Given the description of an element on the screen output the (x, y) to click on. 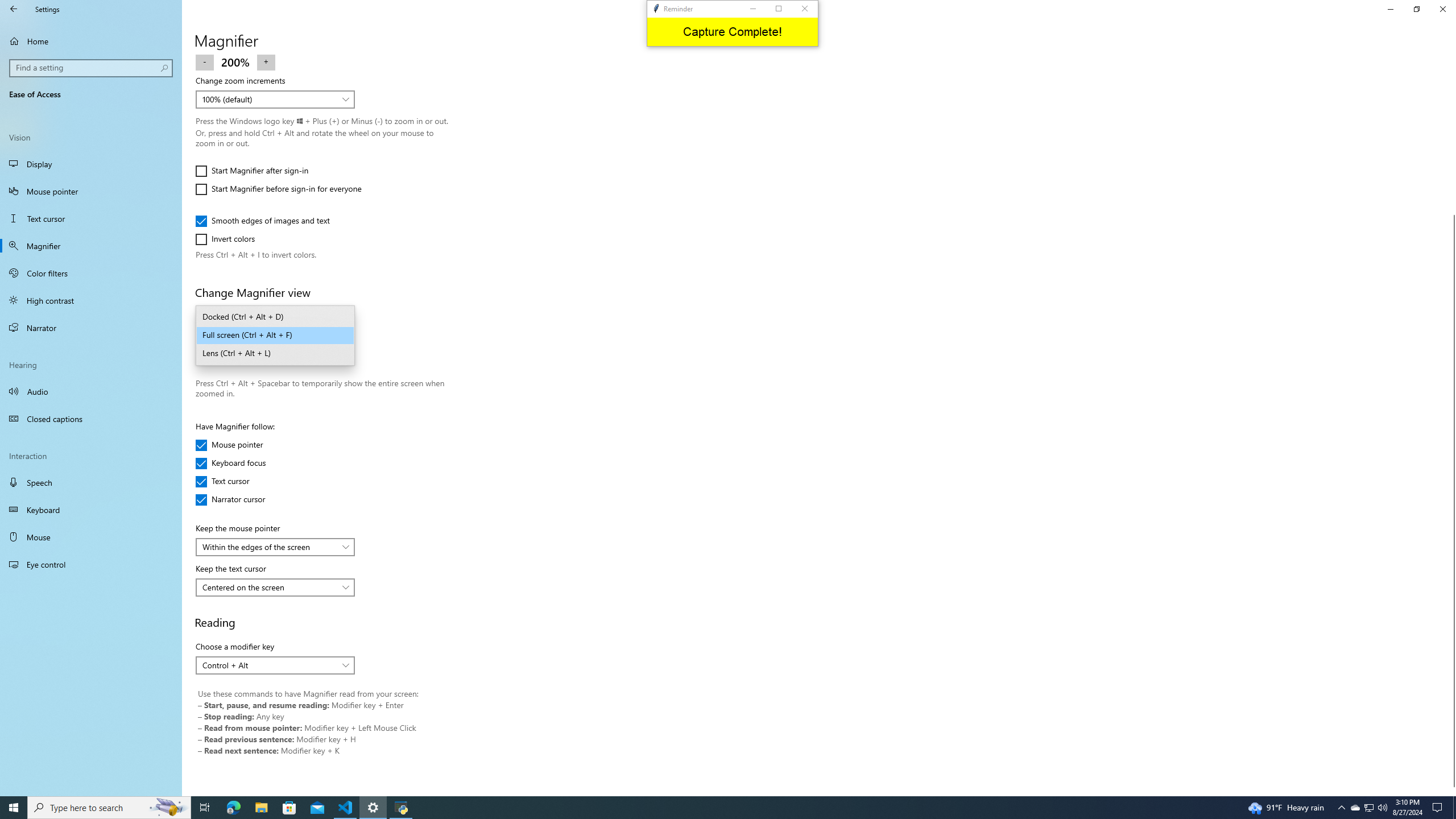
Choose a view (275, 335)
Keyboard (91, 509)
Close Settings (1442, 9)
Within the edges of the screen (269, 546)
